Given the description of an element on the screen output the (x, y) to click on. 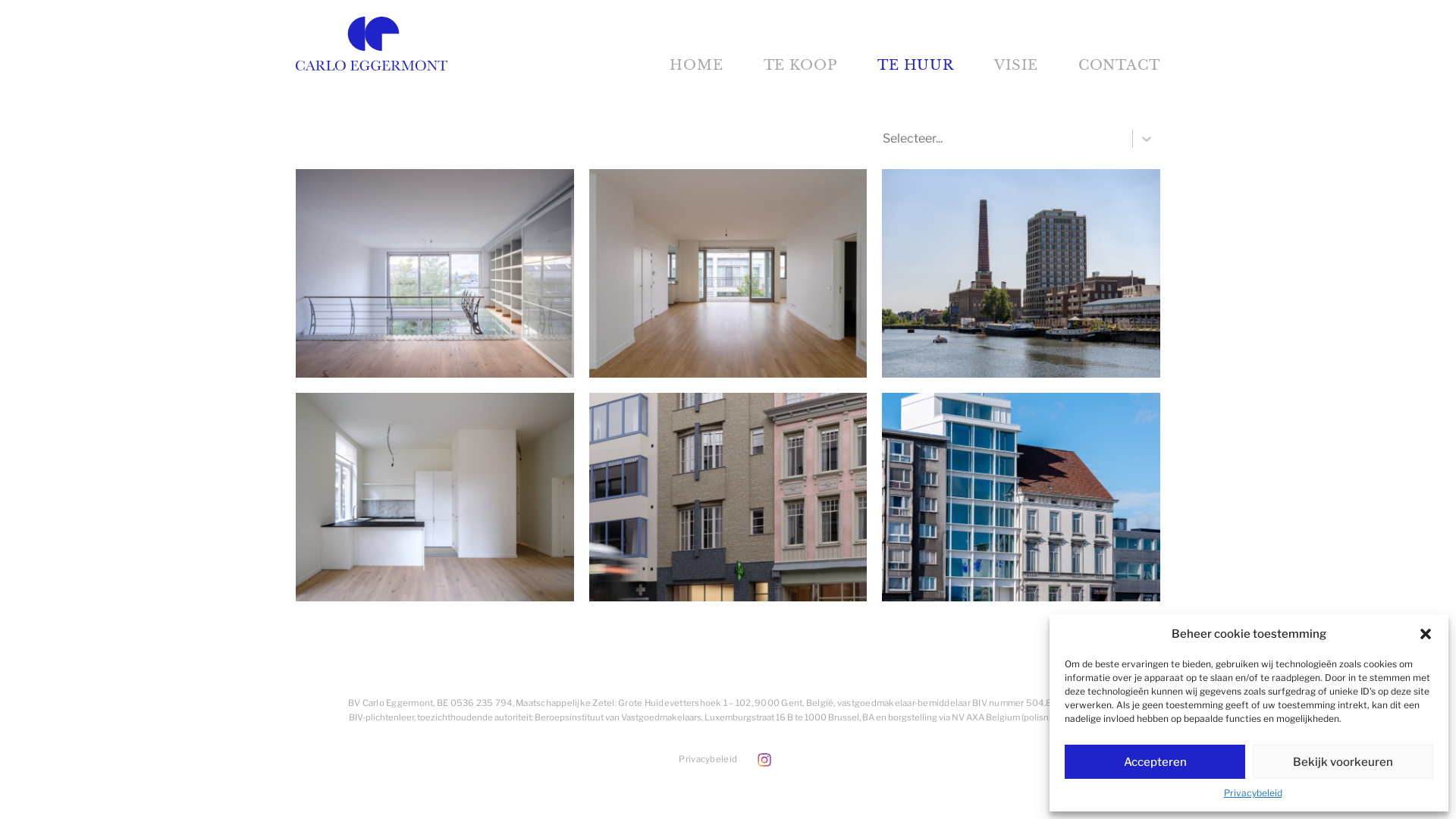
TE HUUR Element type: text (915, 65)
TE KOOP Element type: text (800, 65)
Privacybeleid Element type: text (707, 758)
VISIE Element type: text (1016, 65)
Accepteren Element type: text (1154, 761)
Bekijk voorkeuren Element type: text (1342, 761)
HOME Element type: text (696, 65)
Privacybeleid Element type: text (1252, 793)
CONTACT Element type: text (1119, 65)
